Given the description of an element on the screen output the (x, y) to click on. 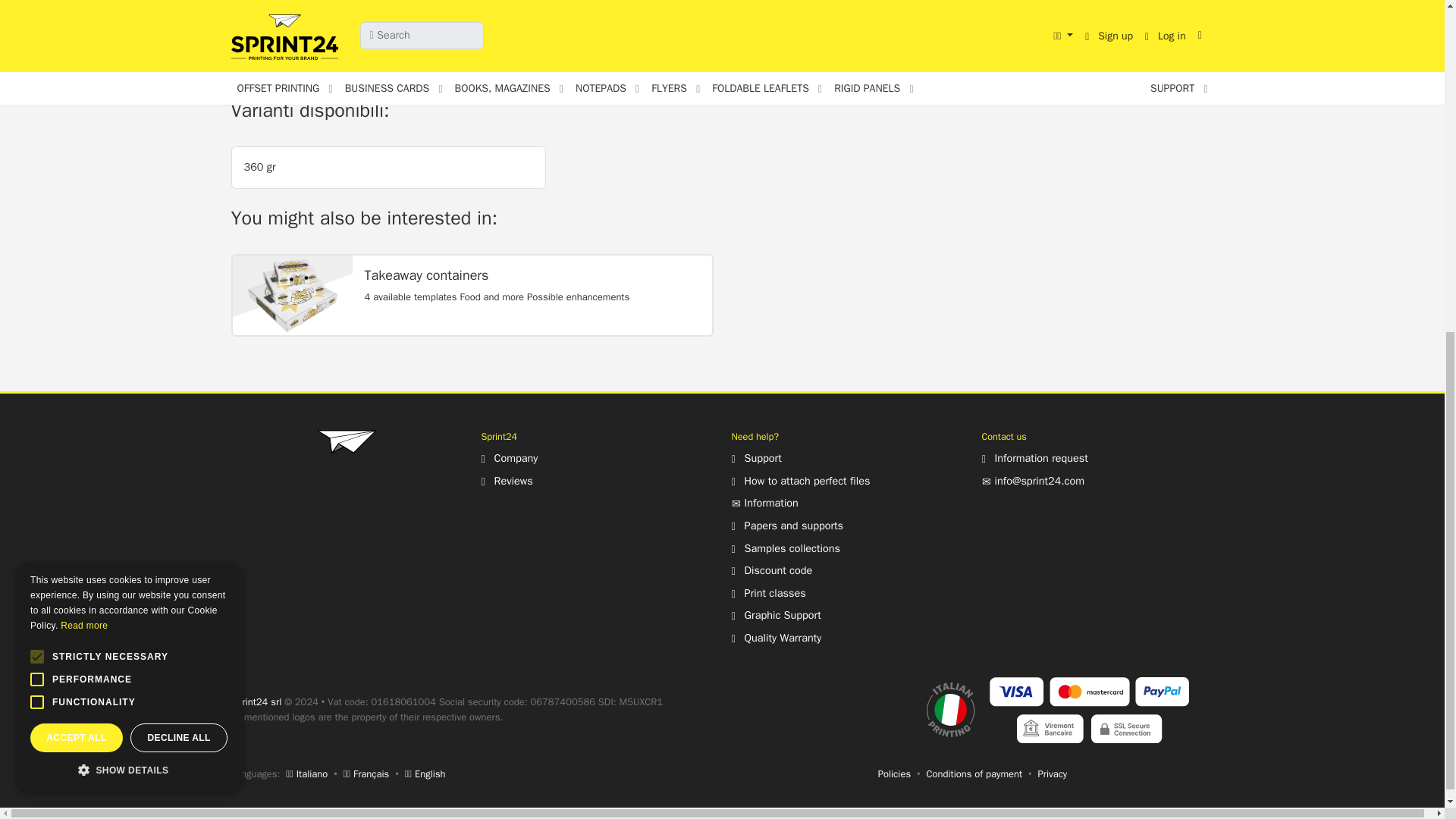
Samples collections (785, 548)
Discount Code: Printing Custom Online UK (771, 570)
Print classes (767, 592)
How to attach perfect files (799, 480)
Print Customized Online Takeaway Containers (291, 294)
Quality Warranty (775, 637)
360 gr (388, 167)
Graphic Support (775, 614)
Support (755, 458)
Papers and supports (786, 525)
